Given the description of an element on the screen output the (x, y) to click on. 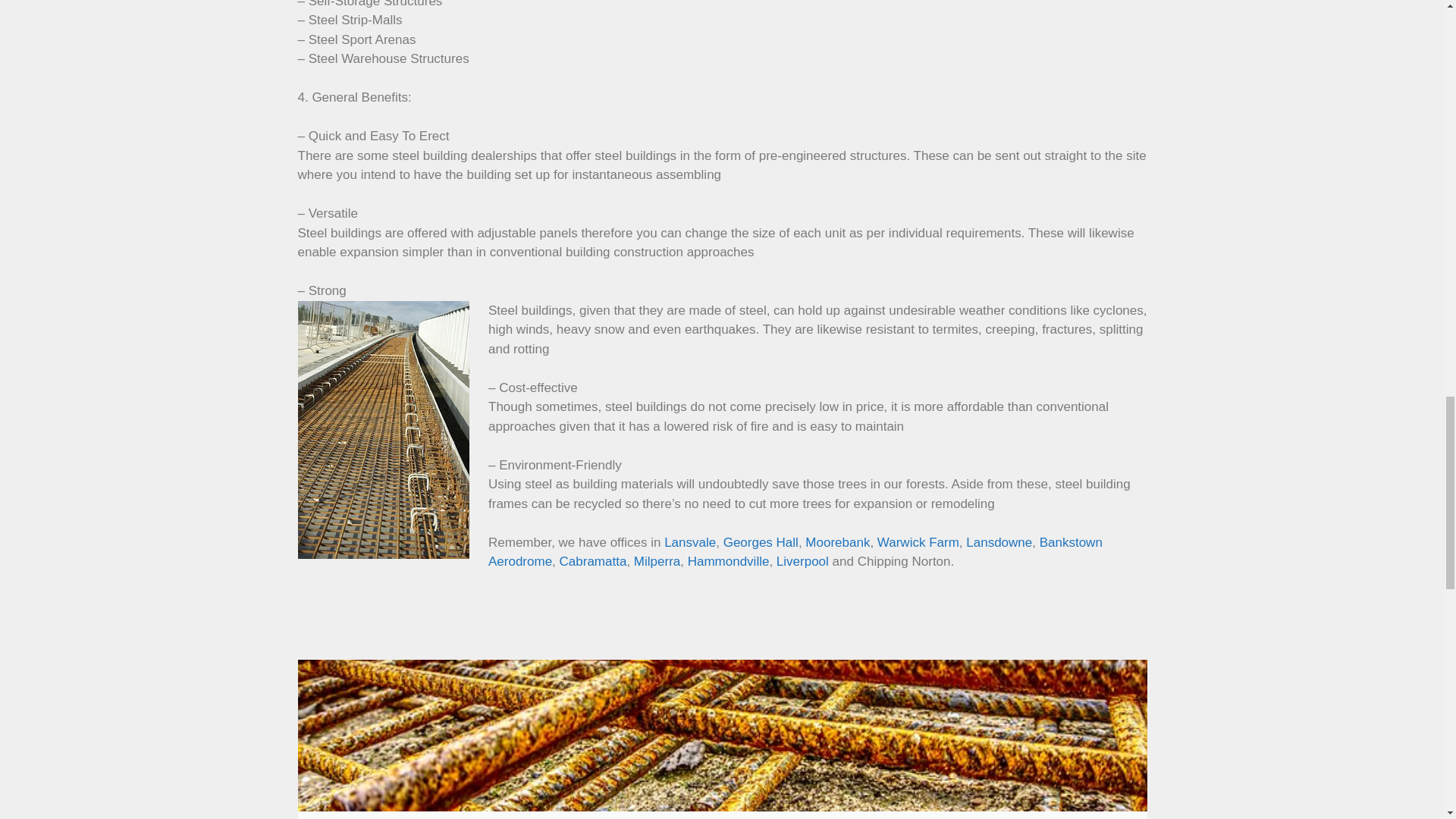
Warwick Farm (918, 542)
Hammondville (728, 561)
Moorebank (837, 542)
Milperra (656, 561)
Liverpool (802, 561)
Lansvale (689, 542)
Georges Hall (760, 542)
Cabramatta (593, 561)
Lansdowne (999, 542)
Bankstown Aerodrome (794, 552)
